Given the description of an element on the screen output the (x, y) to click on. 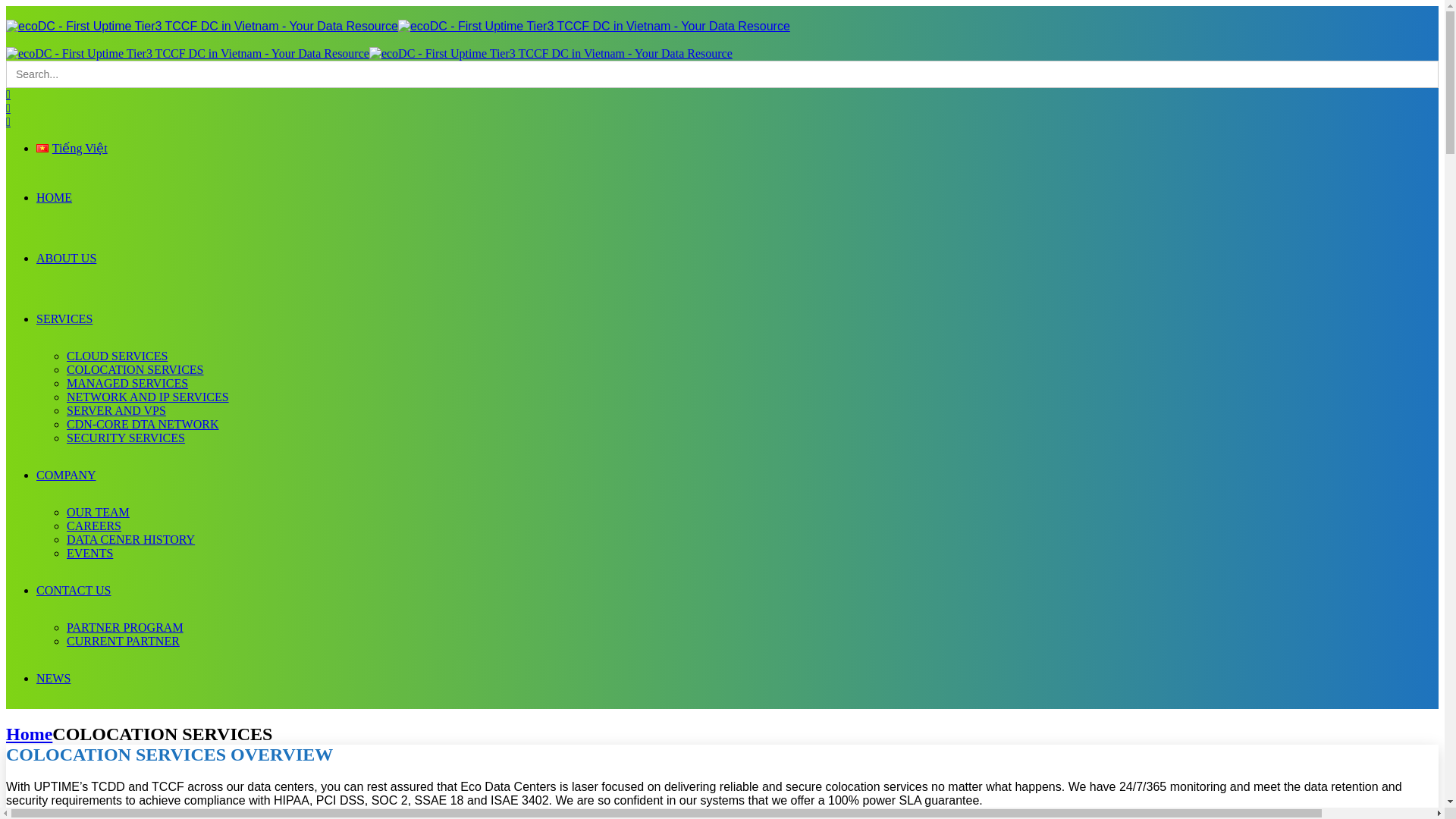
DATA CENER HISTORY (130, 539)
SERVICES (64, 318)
NEWS (52, 677)
EVENTS (89, 553)
COLOCATION SERVICES (134, 369)
CURRENT PARTNER (122, 640)
CLOUD SERVICES (116, 355)
CDN-CORE DTA NETWORK (142, 423)
SERVER AND VPS (115, 410)
Home (28, 733)
CAREERS (93, 525)
OUR TEAM (97, 512)
MANAGED SERVICES (126, 382)
COMPANY (66, 474)
CONTACT US (73, 590)
